Given the description of an element on the screen output the (x, y) to click on. 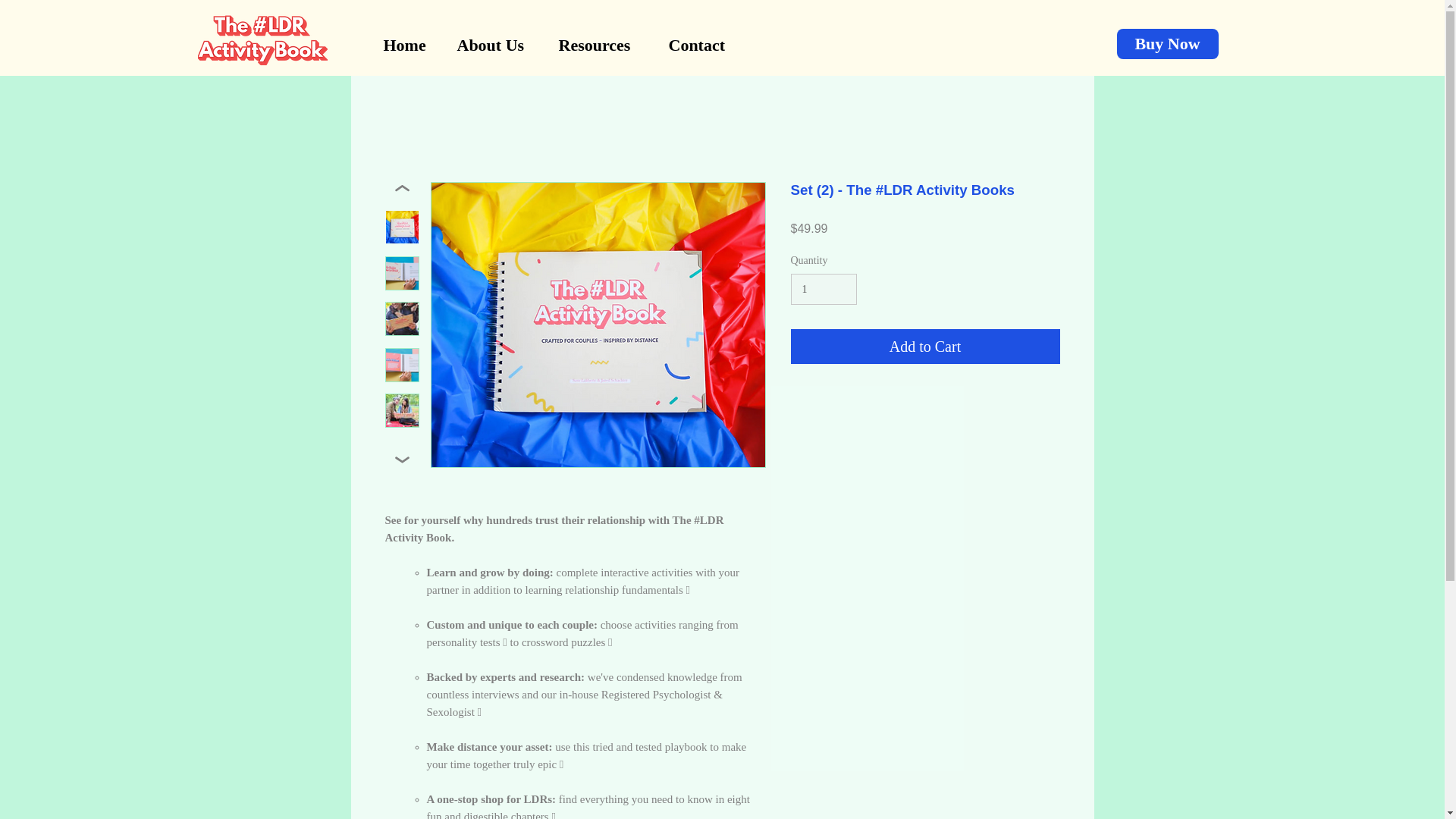
Add to Cart (924, 346)
1 (823, 288)
Buy Now (1166, 43)
Home (408, 45)
Contact (702, 45)
